Given the description of an element on the screen output the (x, y) to click on. 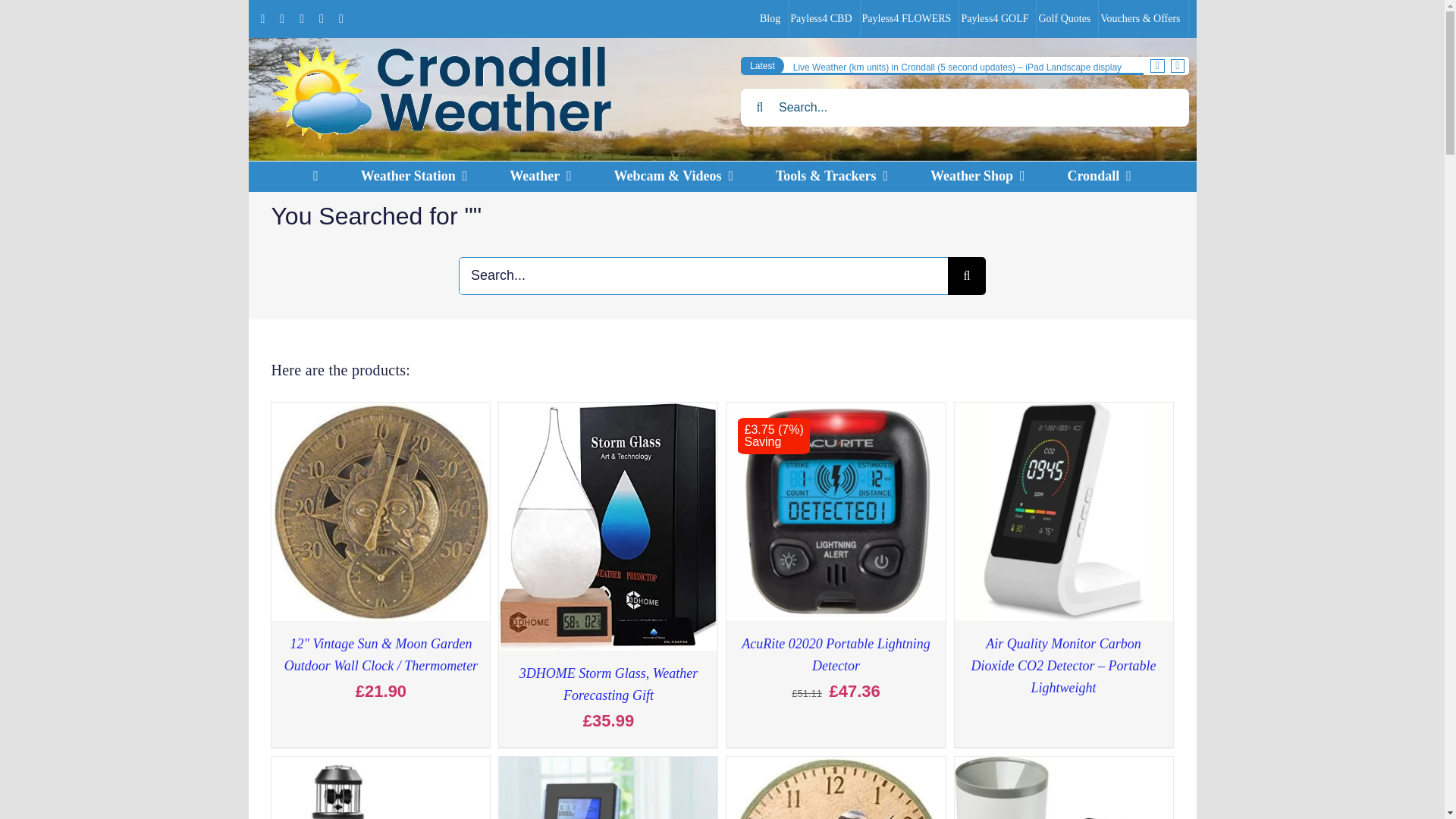
Payless4 CBD (824, 18)
Payless4 GOLF (997, 18)
Golf Quotes (722, 255)
Weather Station (1067, 18)
Payless4 FLOWERS (414, 176)
